Given the description of an element on the screen output the (x, y) to click on. 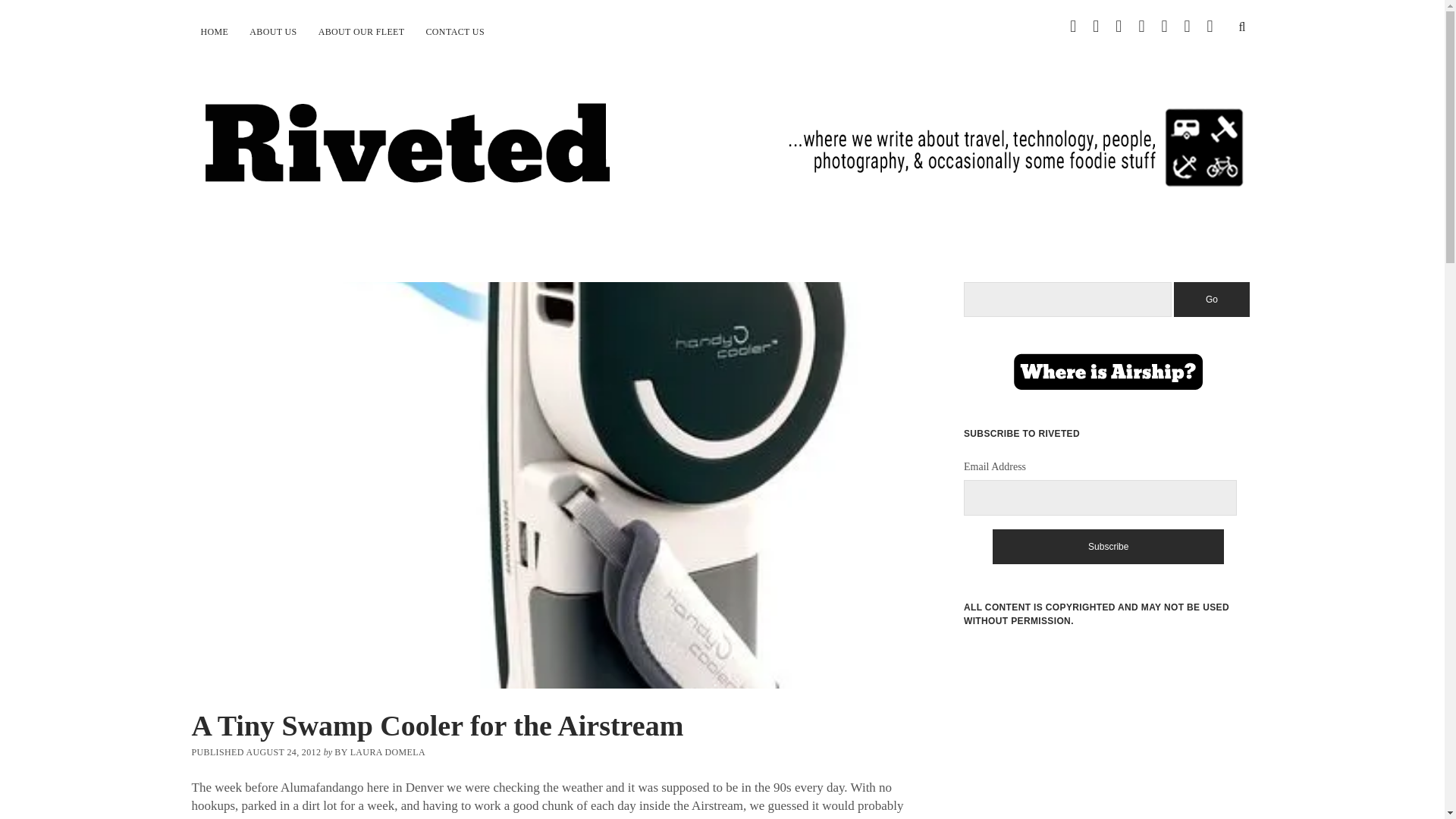
ABOUT US (272, 31)
ABOUT OUR FLEET (360, 31)
Riveted (721, 175)
Subscribe (1108, 546)
HOME (213, 31)
Go (1211, 298)
Search for: (1067, 299)
Go (1211, 298)
CONTACT US (454, 31)
Subscribe (1108, 546)
